Given the description of an element on the screen output the (x, y) to click on. 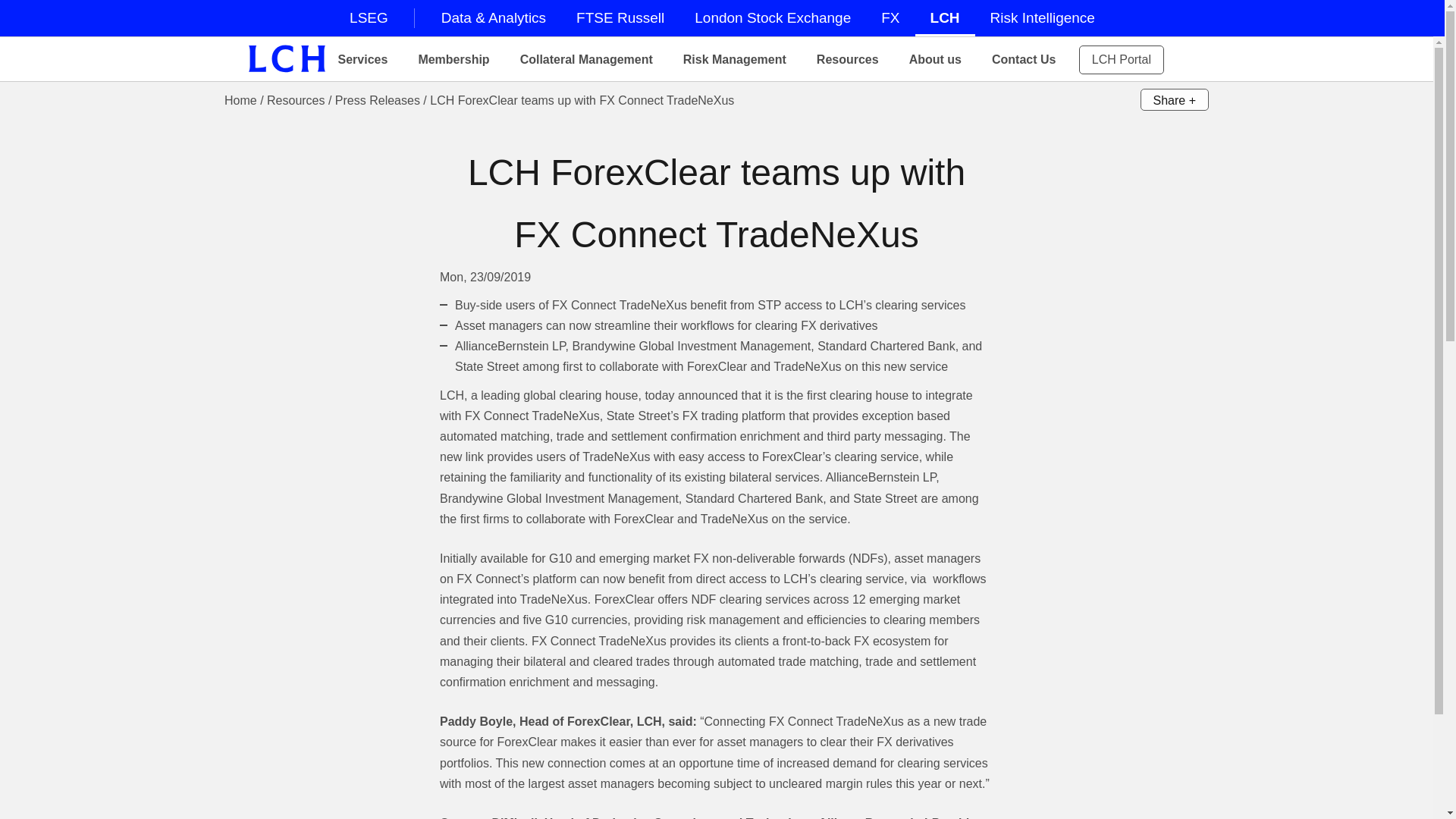
LSEG (368, 18)
Home (286, 58)
FX (890, 18)
Risk Intelligence (1042, 18)
London Stock Exchange (772, 18)
Services (371, 58)
LCH (945, 18)
FTSE Russell (619, 18)
